Given the description of an element on the screen output the (x, y) to click on. 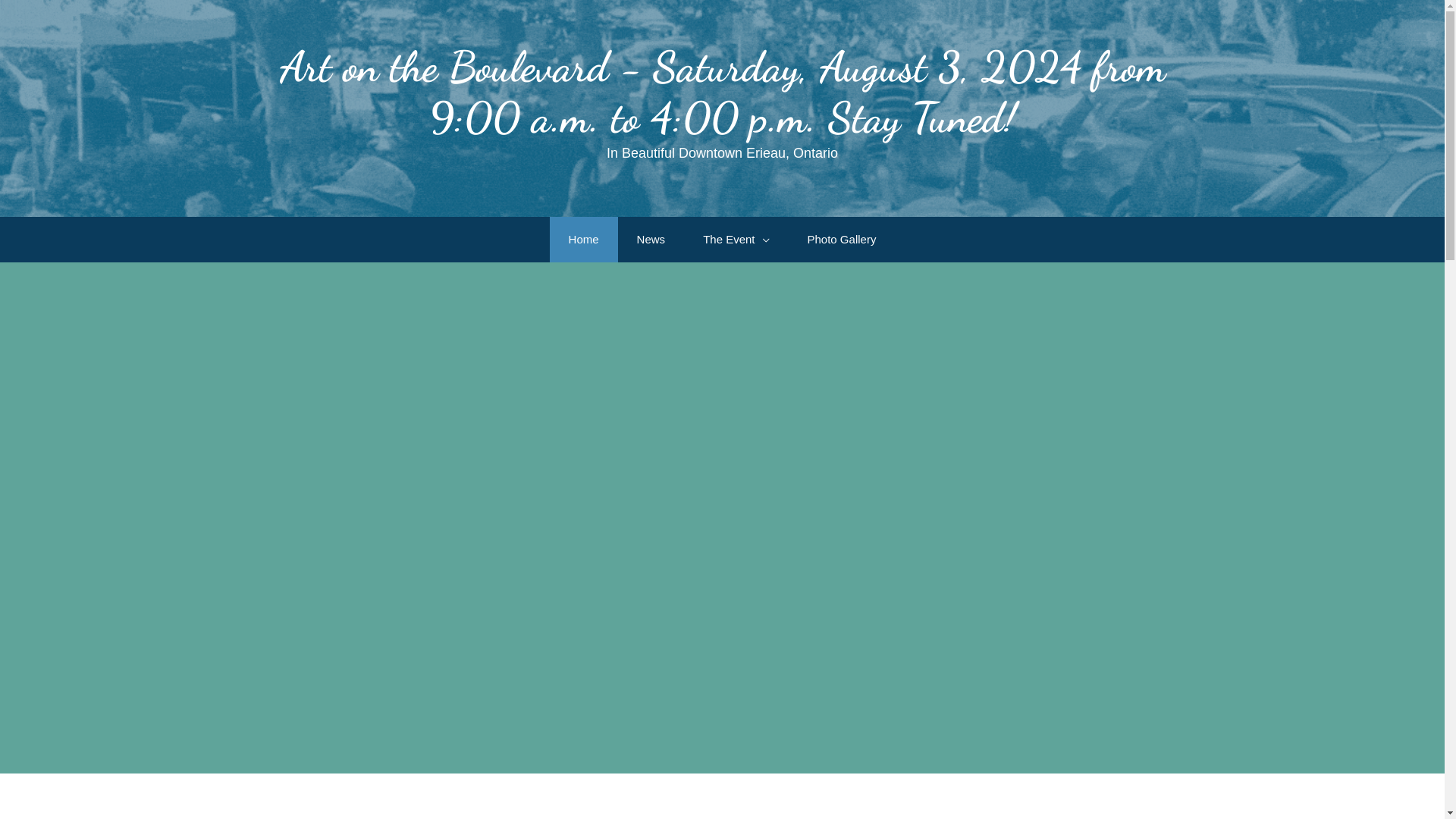
News Element type: text (651, 239)
Photo Gallery Element type: text (841, 239)
The Event Element type: text (735, 239)
Home Element type: text (583, 239)
